Given the description of an element on the screen output the (x, y) to click on. 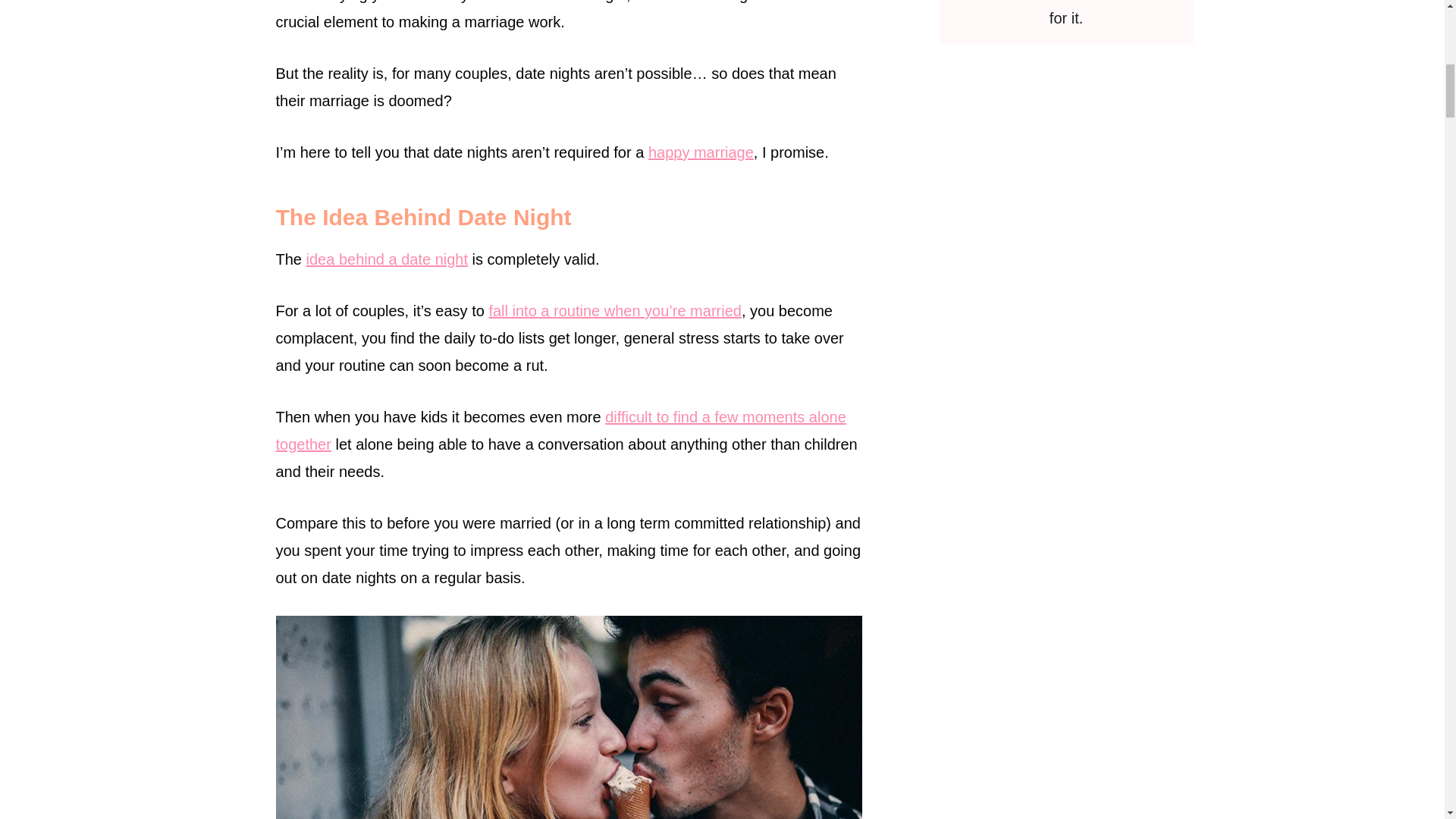
idea behind a date night (386, 258)
difficult to find a few moments alone together (560, 430)
happy marriage (700, 152)
